Given the description of an element on the screen output the (x, y) to click on. 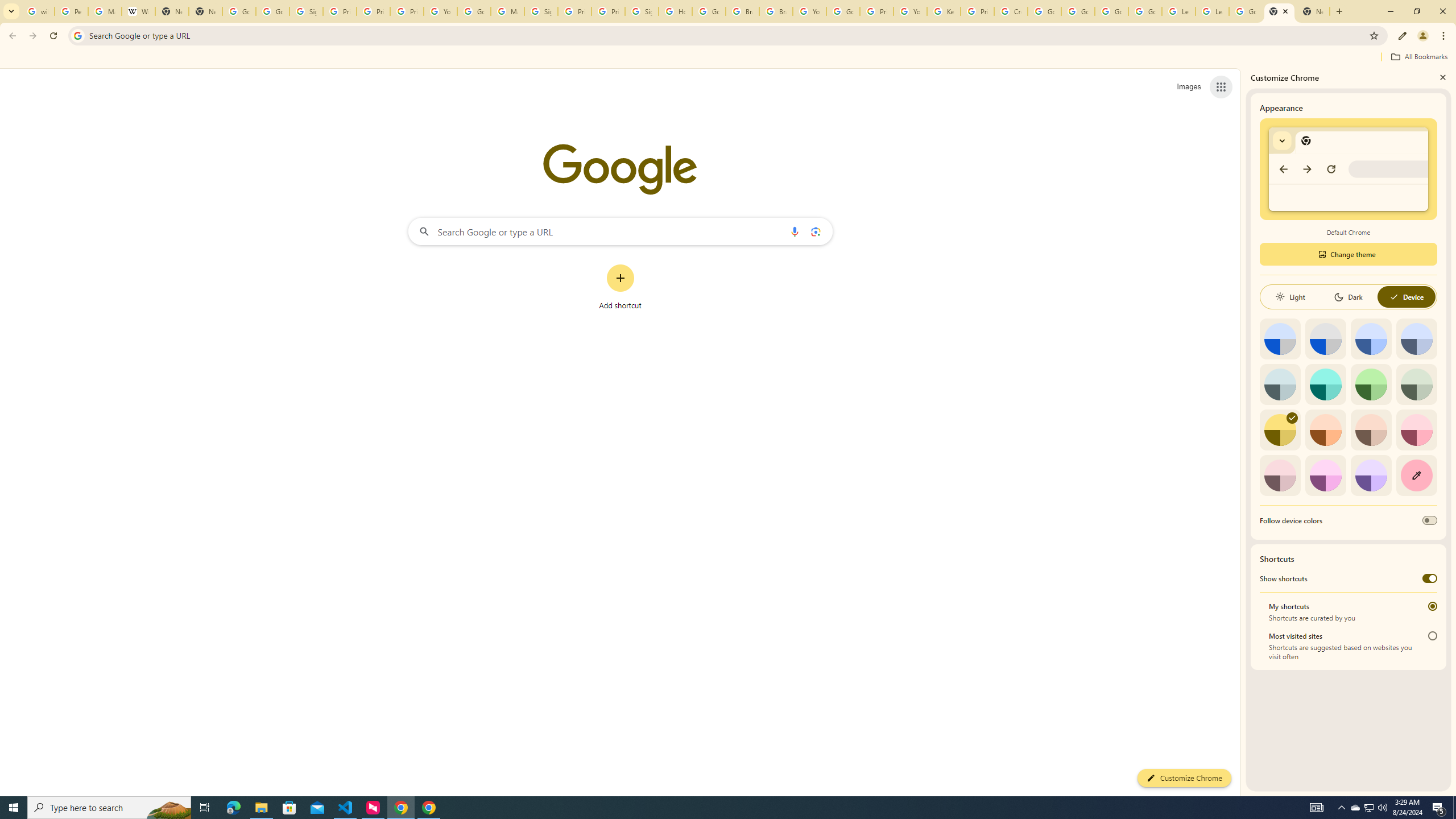
Follow device colors (1429, 519)
Default Chrome (1348, 169)
Personalization & Google Search results - Google Search Help (71, 11)
AutomationID: svg (1292, 417)
Google Drive: Sign-in (272, 11)
Add shortcut (620, 287)
